Given the description of an element on the screen output the (x, y) to click on. 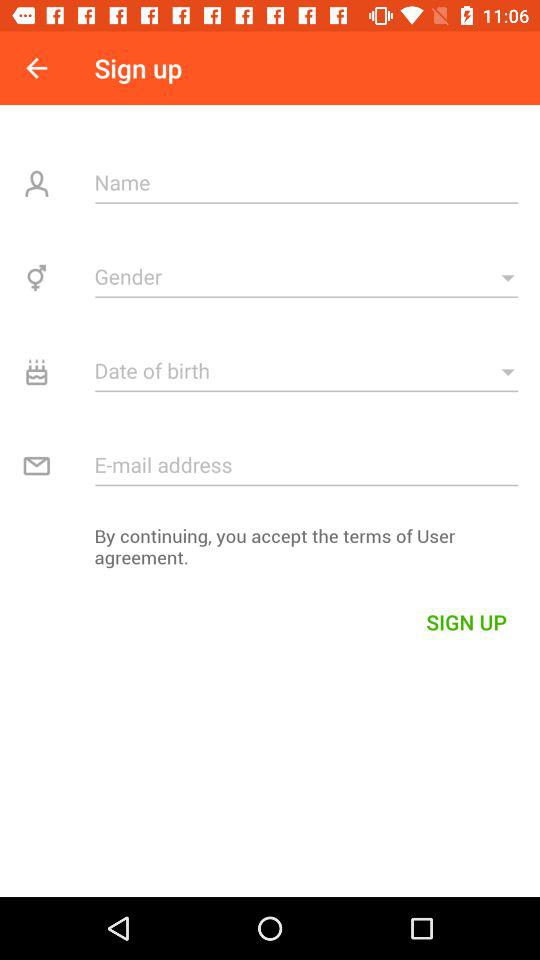
choose the item to the left of the sign up (36, 68)
